Given the description of an element on the screen output the (x, y) to click on. 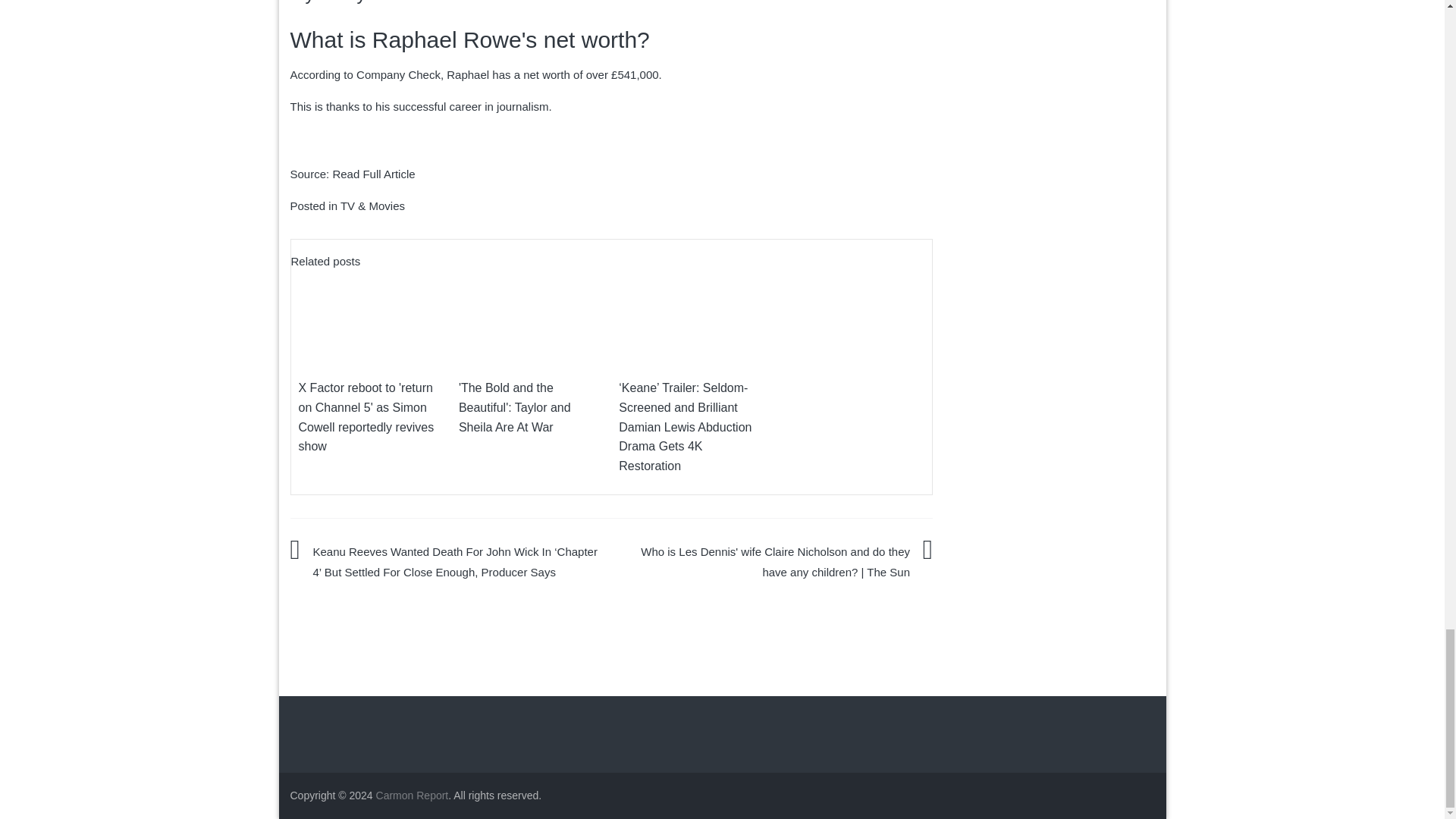
'The Bold and the Beautiful': Taylor and Sheila Are At War (514, 407)
'The Bold and the Beautiful': Taylor and Sheila Are At War (531, 316)
'The Bold and the Beautiful': Taylor and Sheila Are At War (514, 407)
'The Bold and the Beautiful': Taylor and Sheila Are At War (531, 317)
Read Full Article (372, 173)
